Given the description of an element on the screen output the (x, y) to click on. 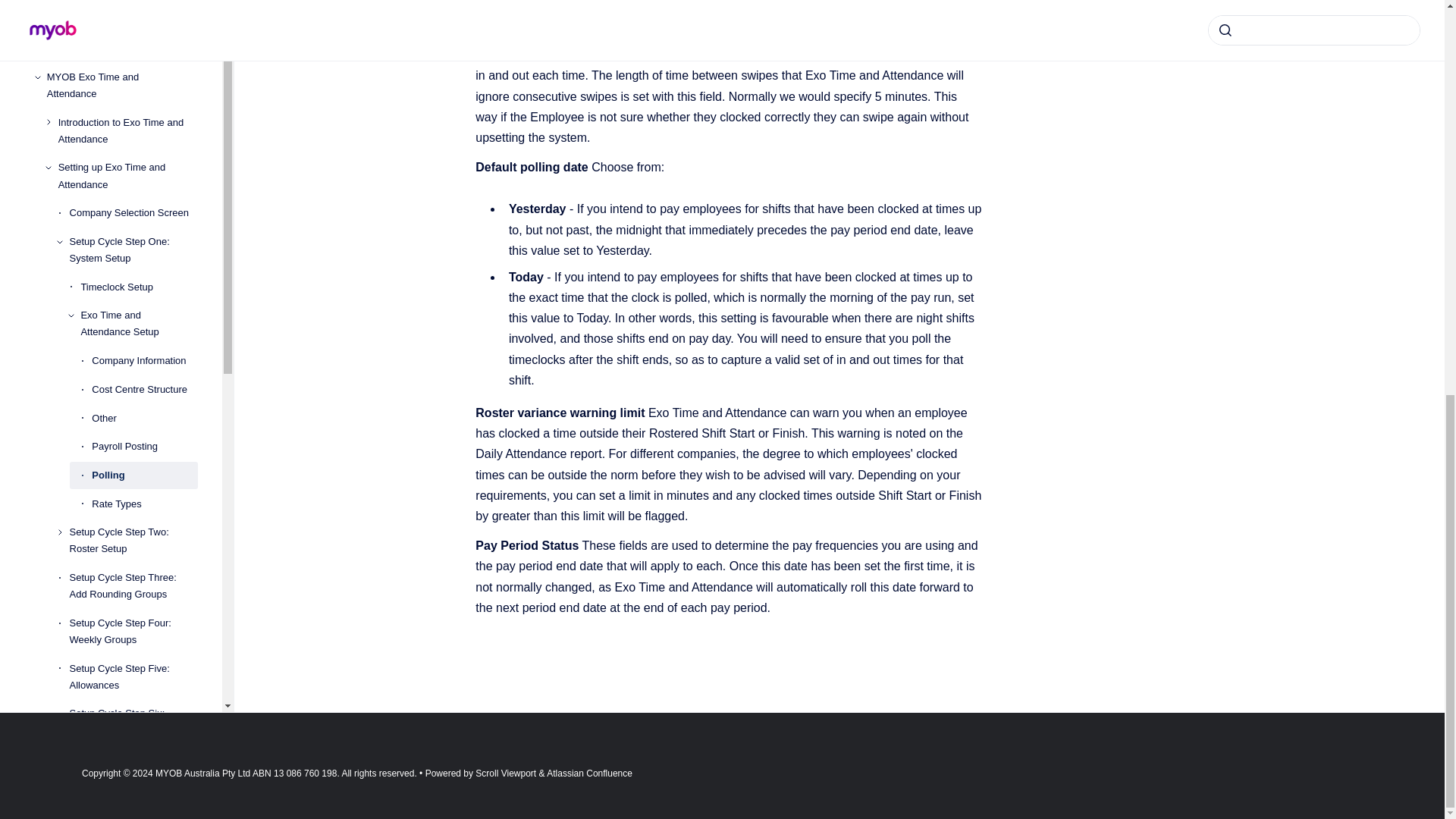
Setup Cycle Step Five: Allowances (133, 22)
Setup Cycle Step Six: Statutory Holiday Groups (133, 67)
Setup Cycle Step Seven - Employee Groups (133, 112)
Exo Time and Attendance Time Cycle (128, 282)
Setup Cycle Step Eight: Exo Time and Attendance Employees (133, 166)
Other Optional Time and Attendance Setup Functions (133, 229)
